Given the description of an element on the screen output the (x, y) to click on. 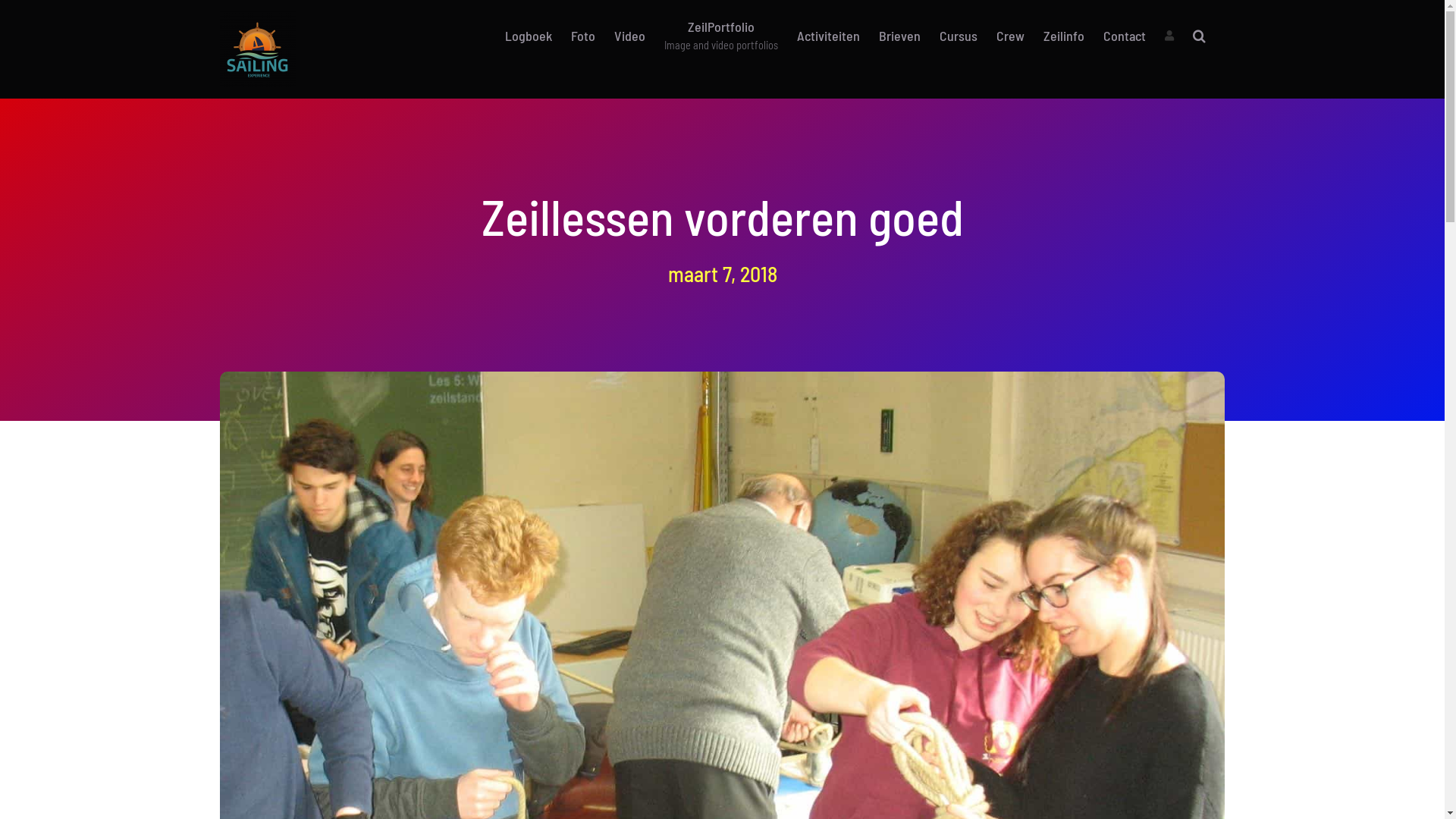
ZeilPortfolio
Image and video portfolios Element type: text (721, 35)
Activiteiten Element type: text (828, 35)
Contact Element type: text (1124, 35)
Logboek Element type: text (528, 35)
Crew Element type: text (1010, 35)
Video Element type: text (629, 35)
Zeilinfo Element type: text (1063, 35)
Foto Element type: text (583, 35)
Brieven Element type: text (899, 35)
Zoeken Element type: hover (1198, 35)
Cursus Element type: text (958, 35)
